Given the description of an element on the screen output the (x, y) to click on. 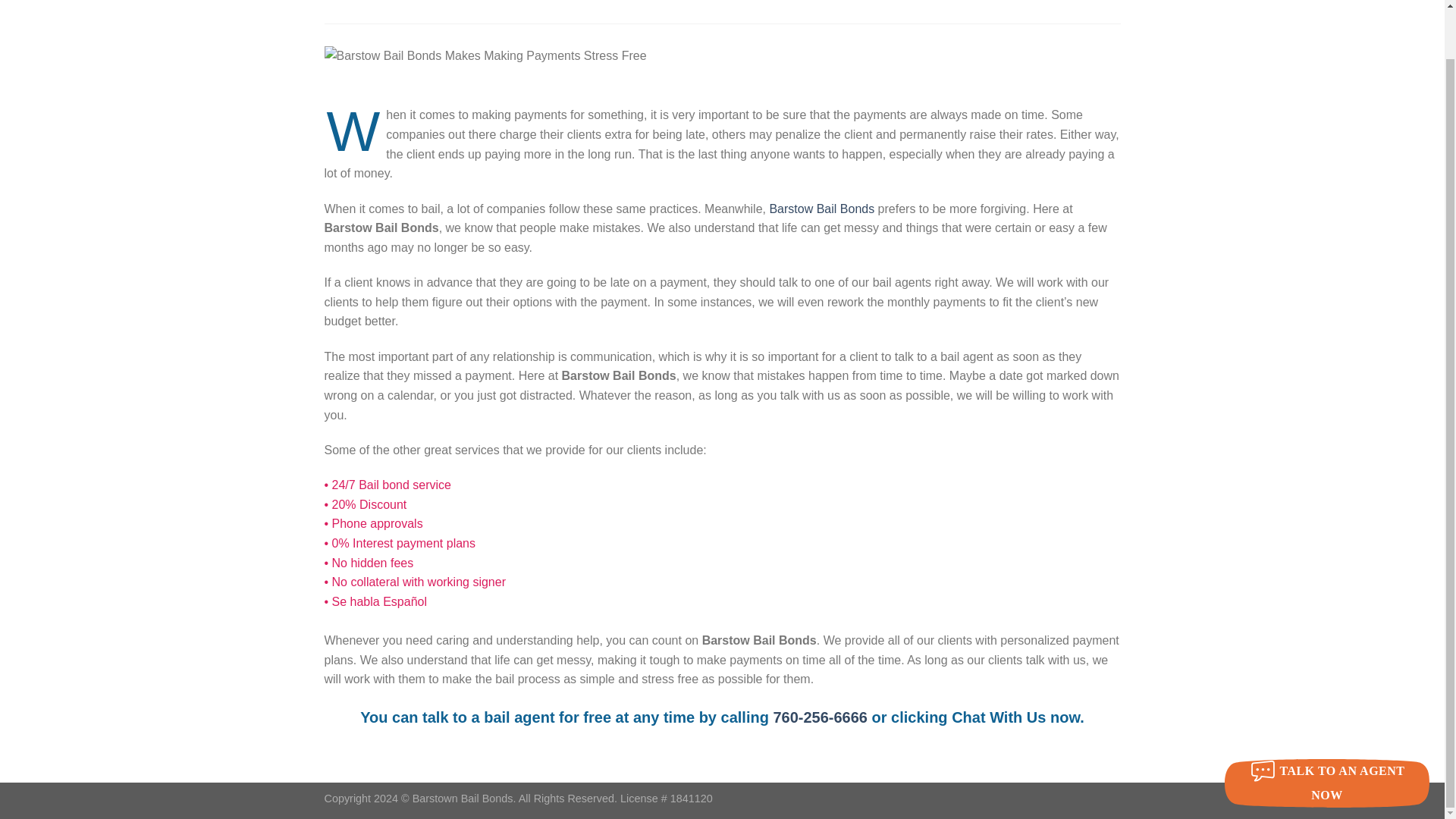
Barstow Bail Bonds (820, 717)
TALK TO AN AGENT NOW (1326, 730)
Barstow Bail Bonds (821, 208)
760-256-6666 (820, 717)
Barstow Bail Bonds (464, 11)
Barstow Bail Bonds (821, 208)
